Given the description of an element on the screen output the (x, y) to click on. 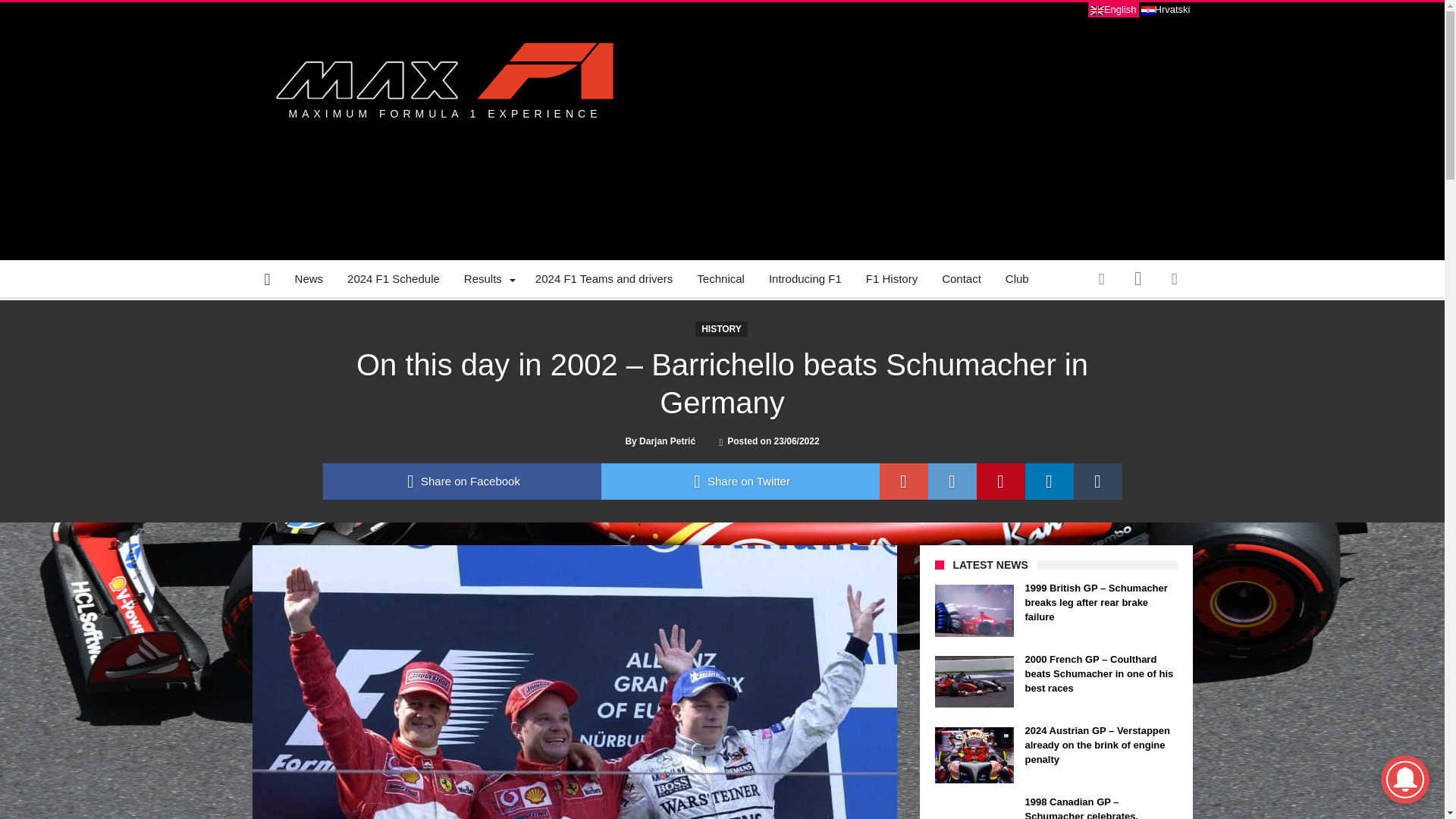
MAXIMUM FORMULA 1 EXPERIENCE (442, 73)
Results (486, 279)
twitter (739, 481)
Introducing F1 (805, 279)
Contact (961, 279)
Technical (720, 279)
linkedin (1049, 481)
Teams and drivers (603, 279)
Hrvatski (1165, 9)
F1 History (891, 279)
Club (1016, 279)
2024 F1 Schedule (392, 279)
News (309, 279)
Advertisement (916, 131)
pinterest (1000, 481)
